Given the description of an element on the screen output the (x, y) to click on. 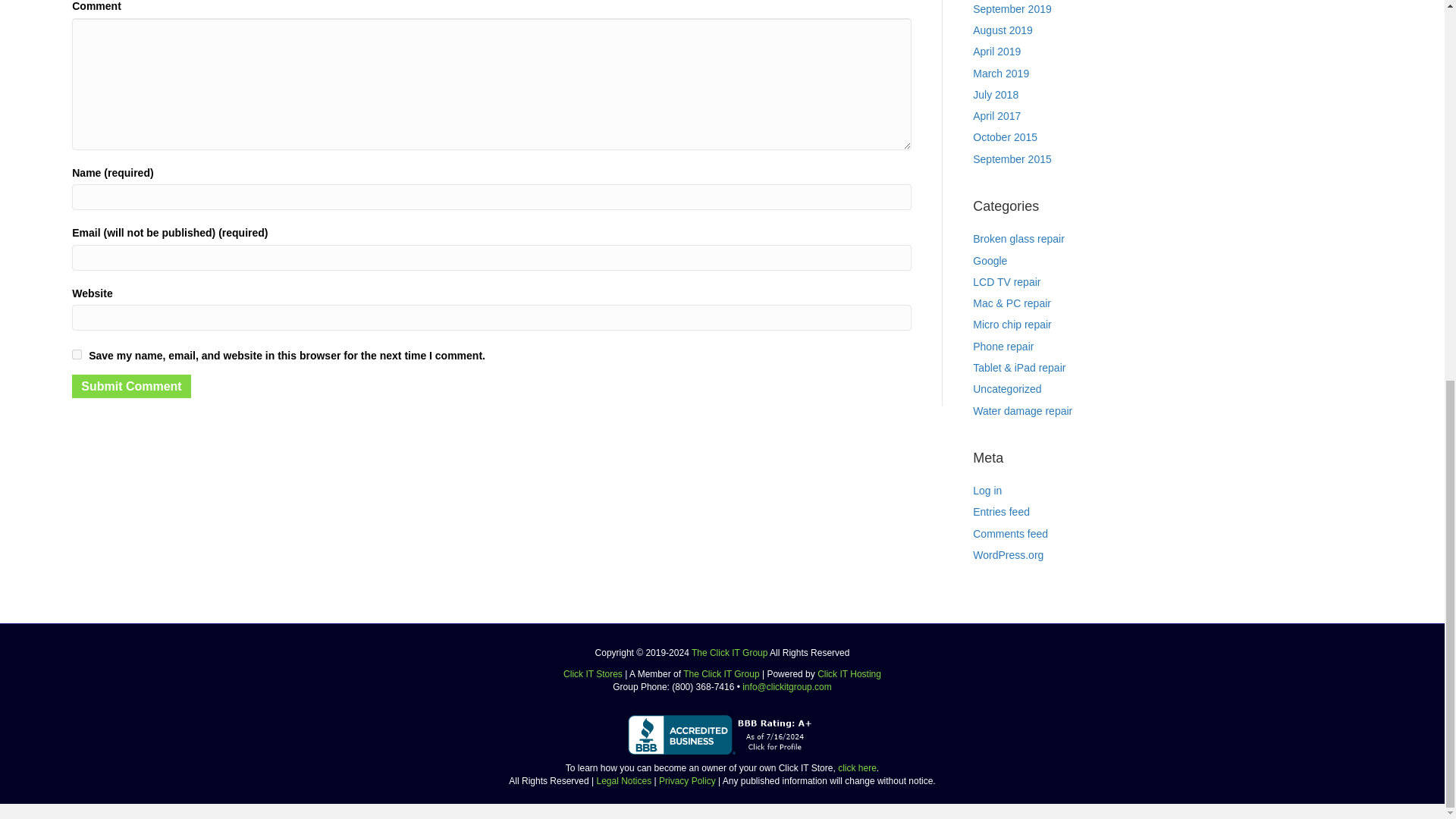
yes (76, 354)
Submit Comment (130, 386)
